Given the description of an element on the screen output the (x, y) to click on. 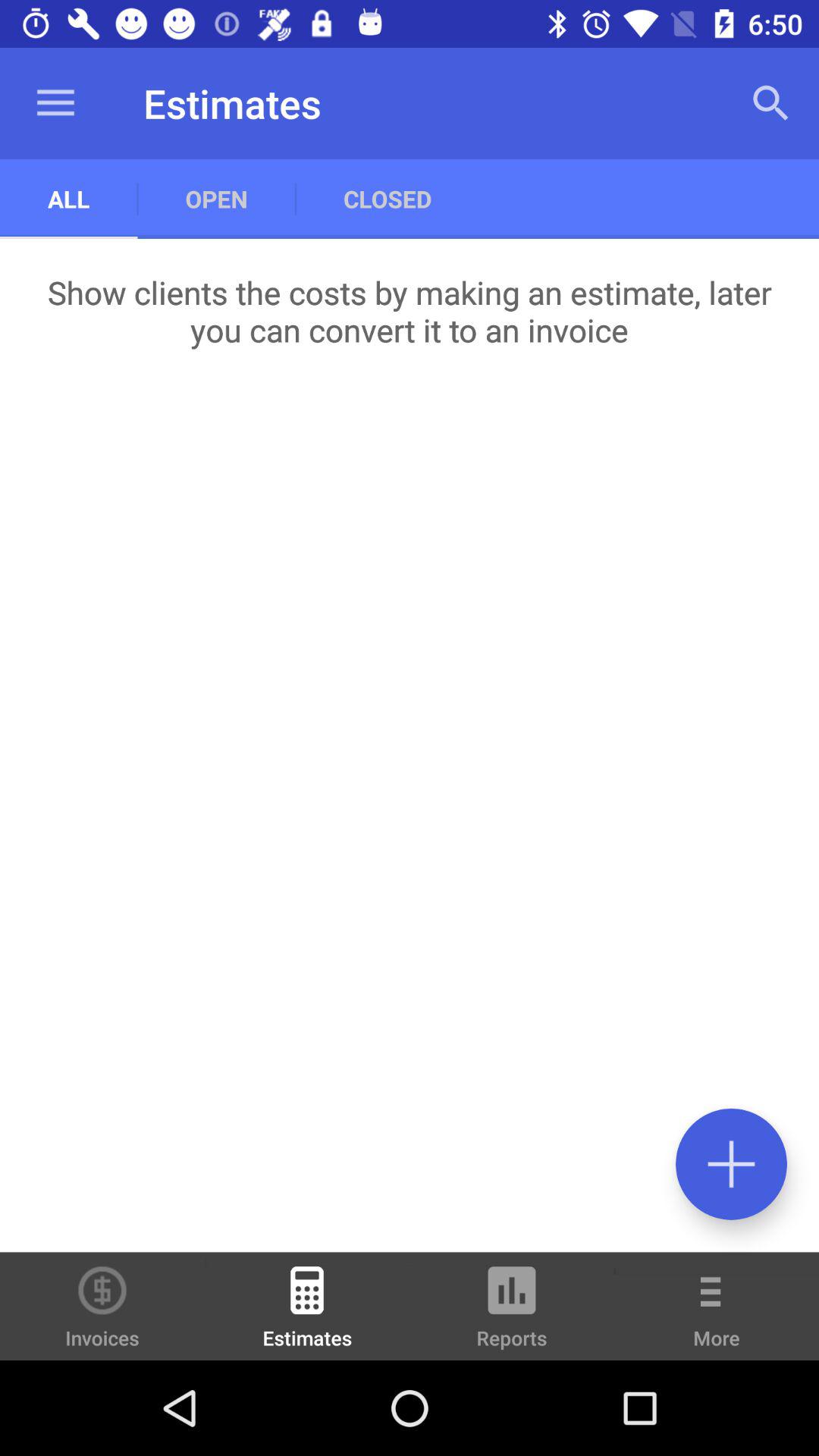
launch the item below the estimates item (387, 198)
